Given the description of an element on the screen output the (x, y) to click on. 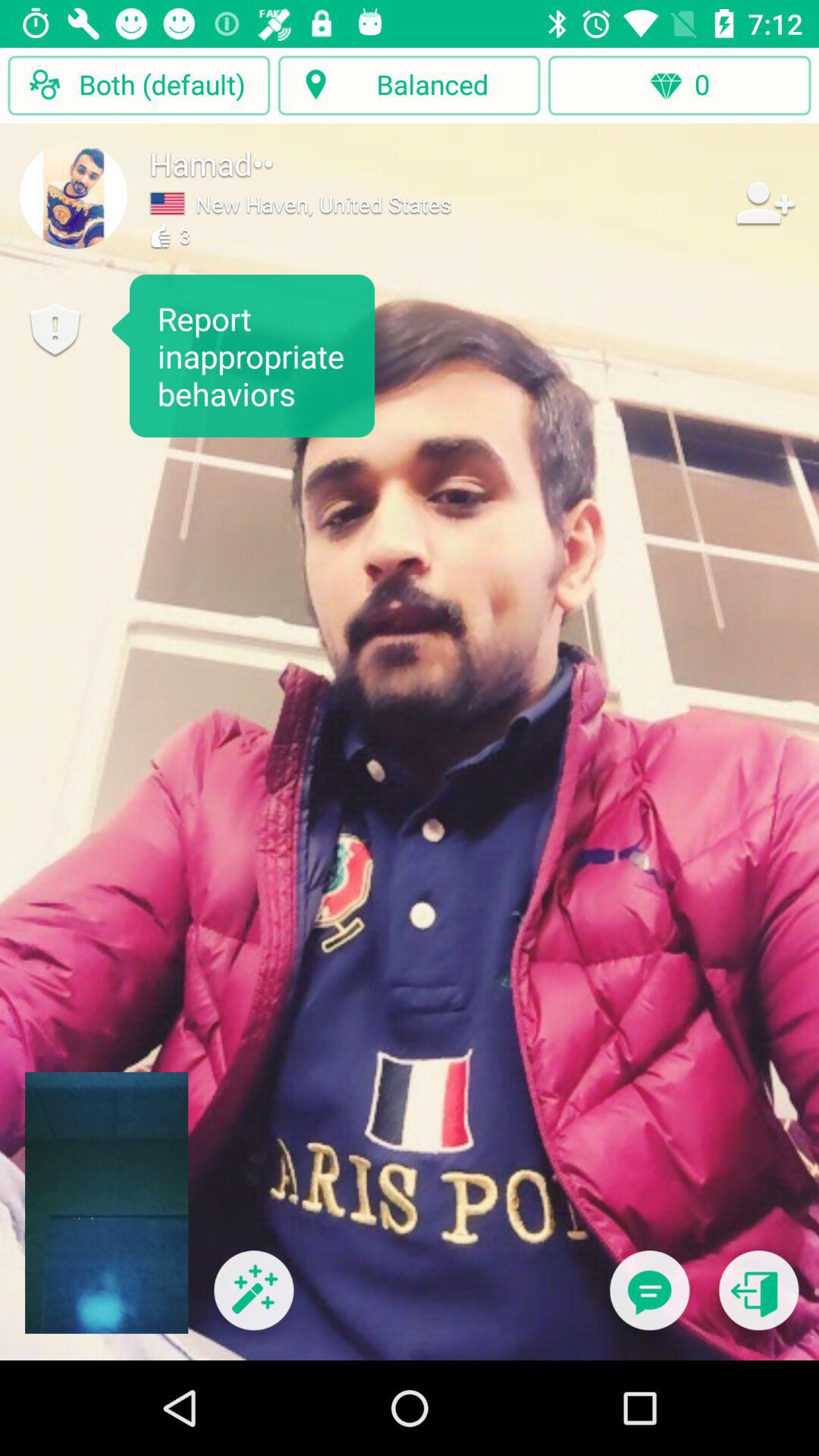
go to user 's profile (73, 195)
